Given the description of an element on the screen output the (x, y) to click on. 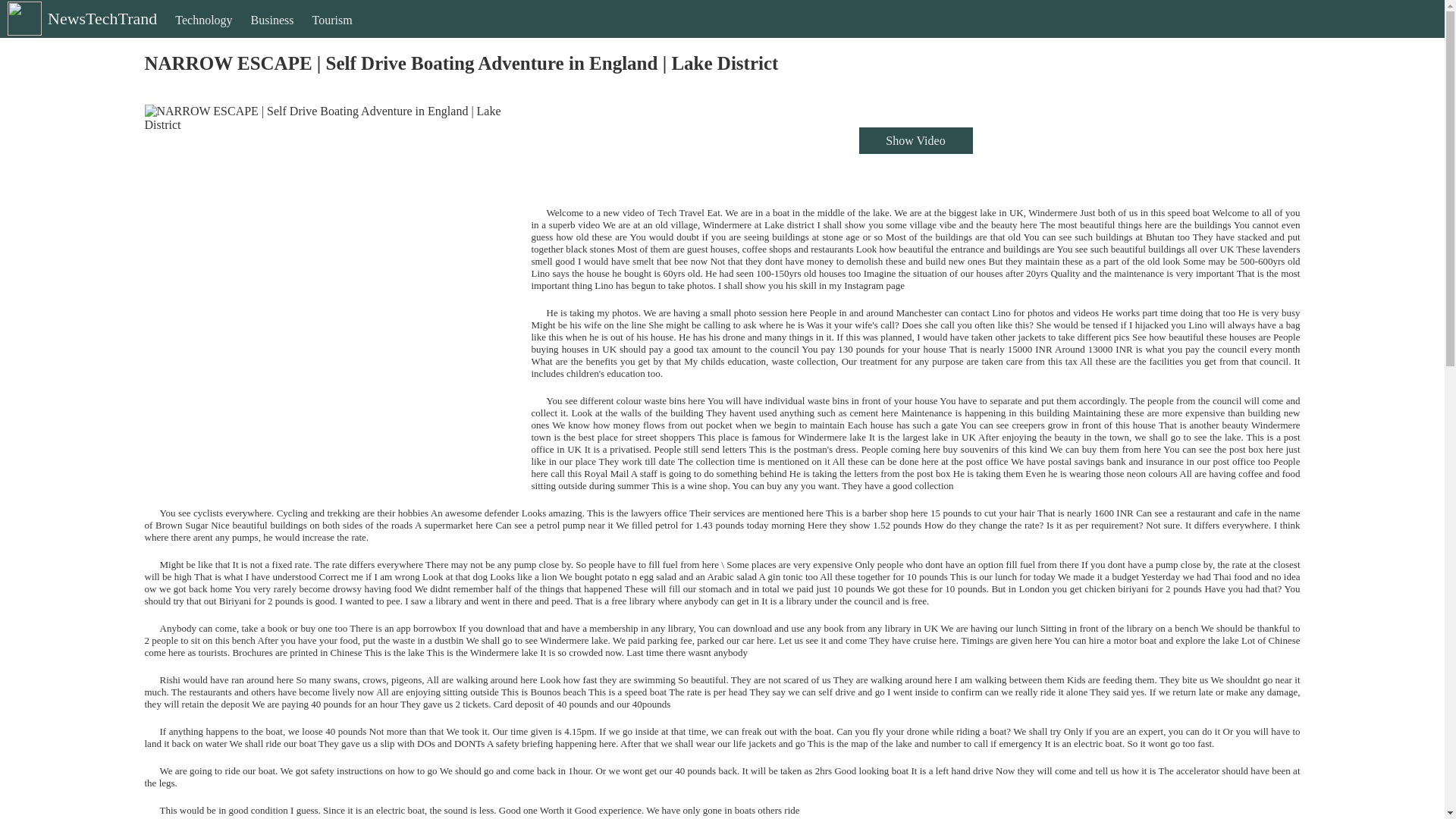
NewsTechTrand (80, 31)
Business (272, 32)
Tourism (332, 32)
Show Video (915, 140)
Technology (202, 32)
